Given the description of an element on the screen output the (x, y) to click on. 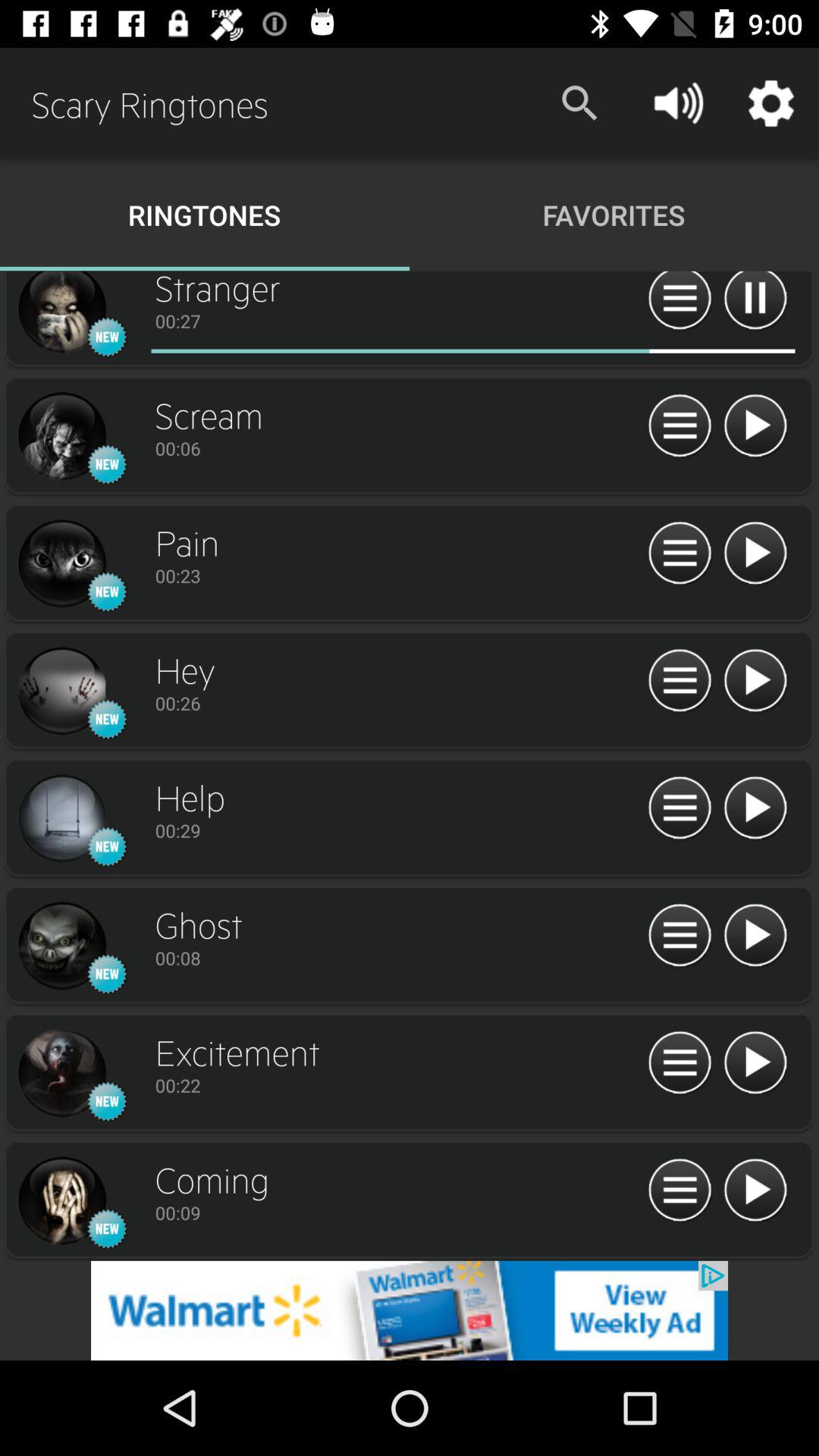
select excitement as your ringtone (61, 1073)
